Given the description of an element on the screen output the (x, y) to click on. 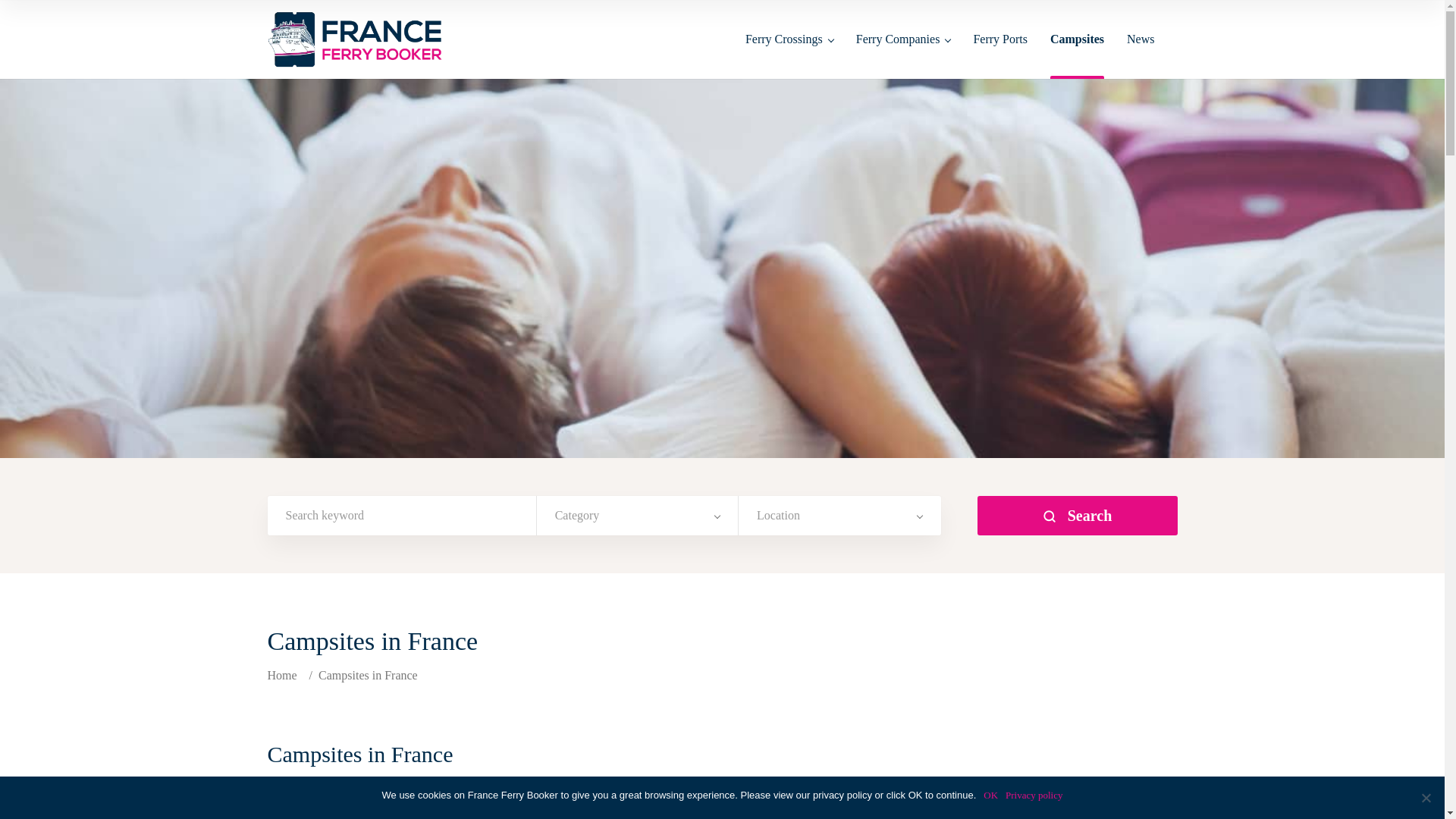
News (1140, 54)
Campsites (1076, 54)
No (1425, 797)
Ferry Ports (999, 54)
France Ferry Booker (355, 39)
France Ferry Booker (284, 675)
Ferry Companies (903, 54)
Ferry Crossings (788, 54)
Search (1076, 515)
Search (1076, 515)
